Given the description of an element on the screen output the (x, y) to click on. 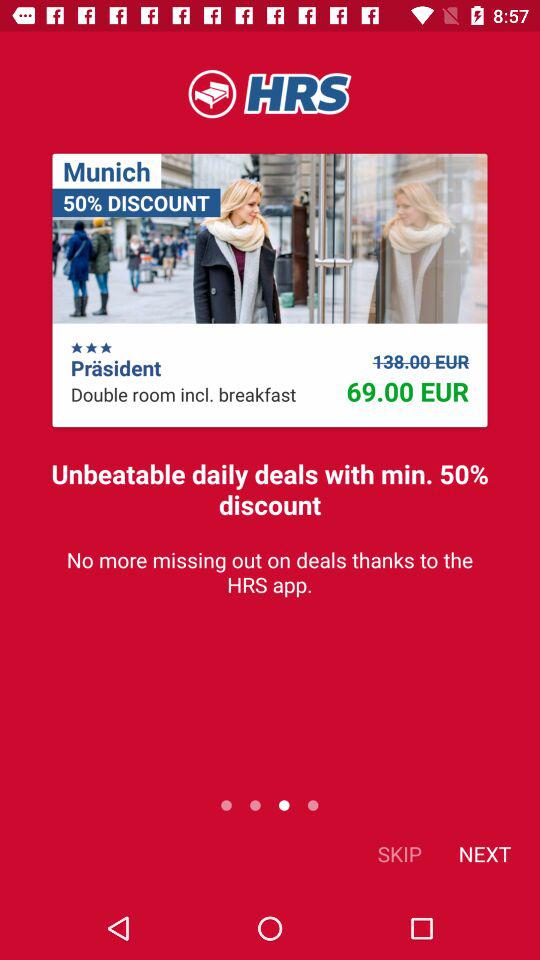
tap item below no more missing item (399, 853)
